Given the description of an element on the screen output the (x, y) to click on. 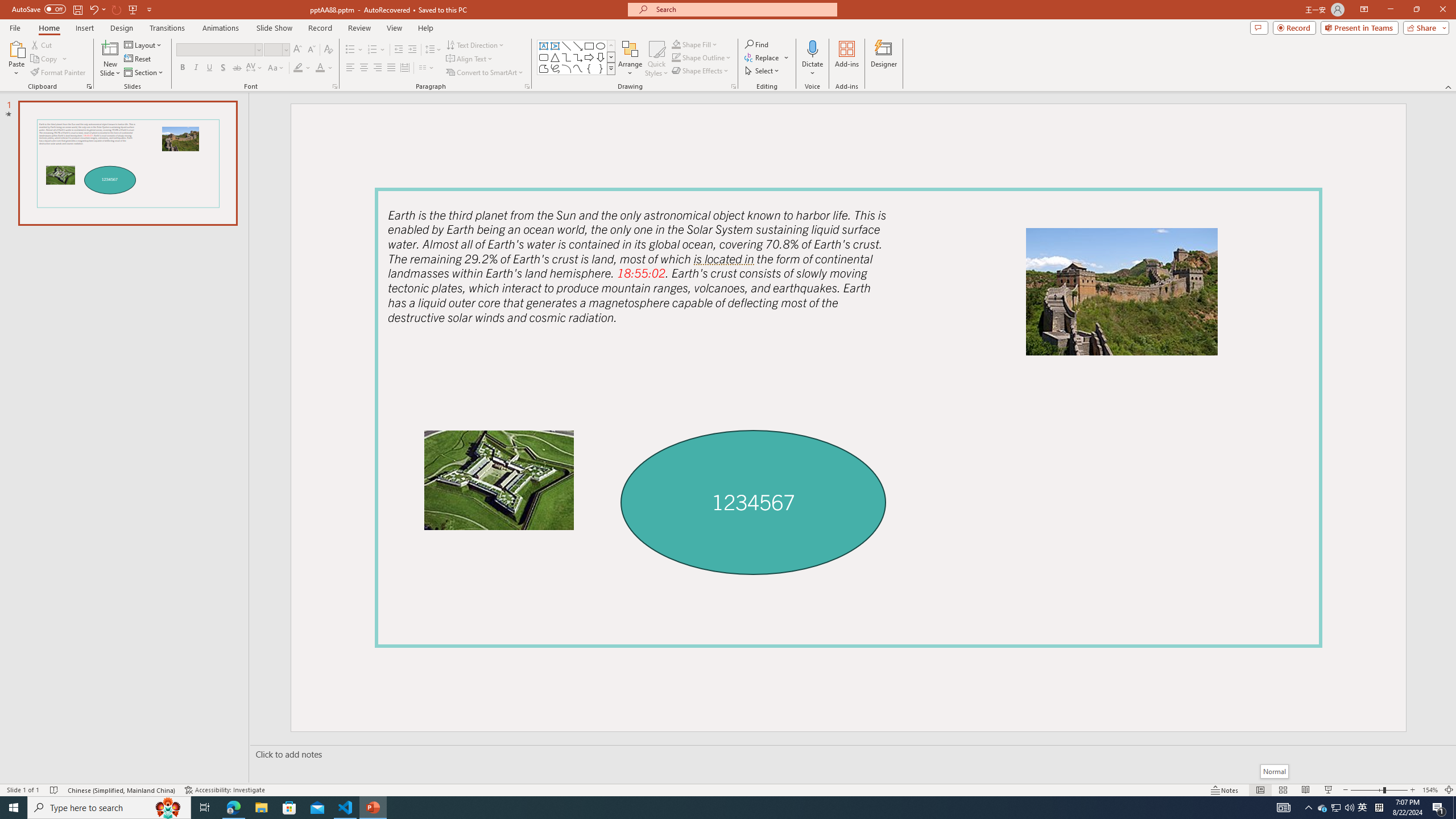
Character Spacing (254, 67)
Curve (577, 68)
Zoom 154% (1430, 790)
Justify (390, 67)
Italic (195, 67)
Change Case (276, 67)
Line (566, 45)
